Given the description of an element on the screen output the (x, y) to click on. 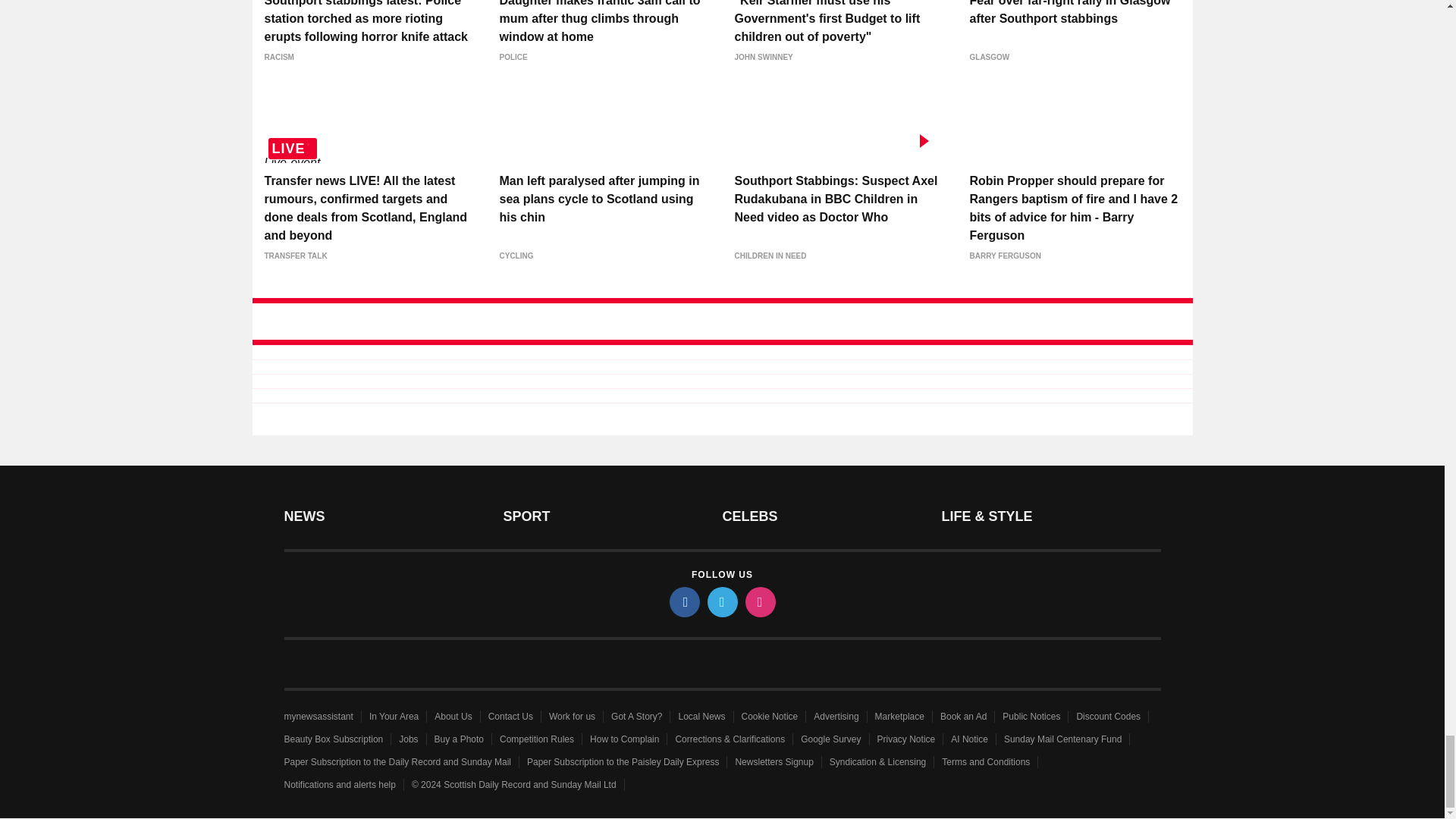
facebook (683, 602)
twitter (721, 602)
instagram (759, 602)
